Given the description of an element on the screen output the (x, y) to click on. 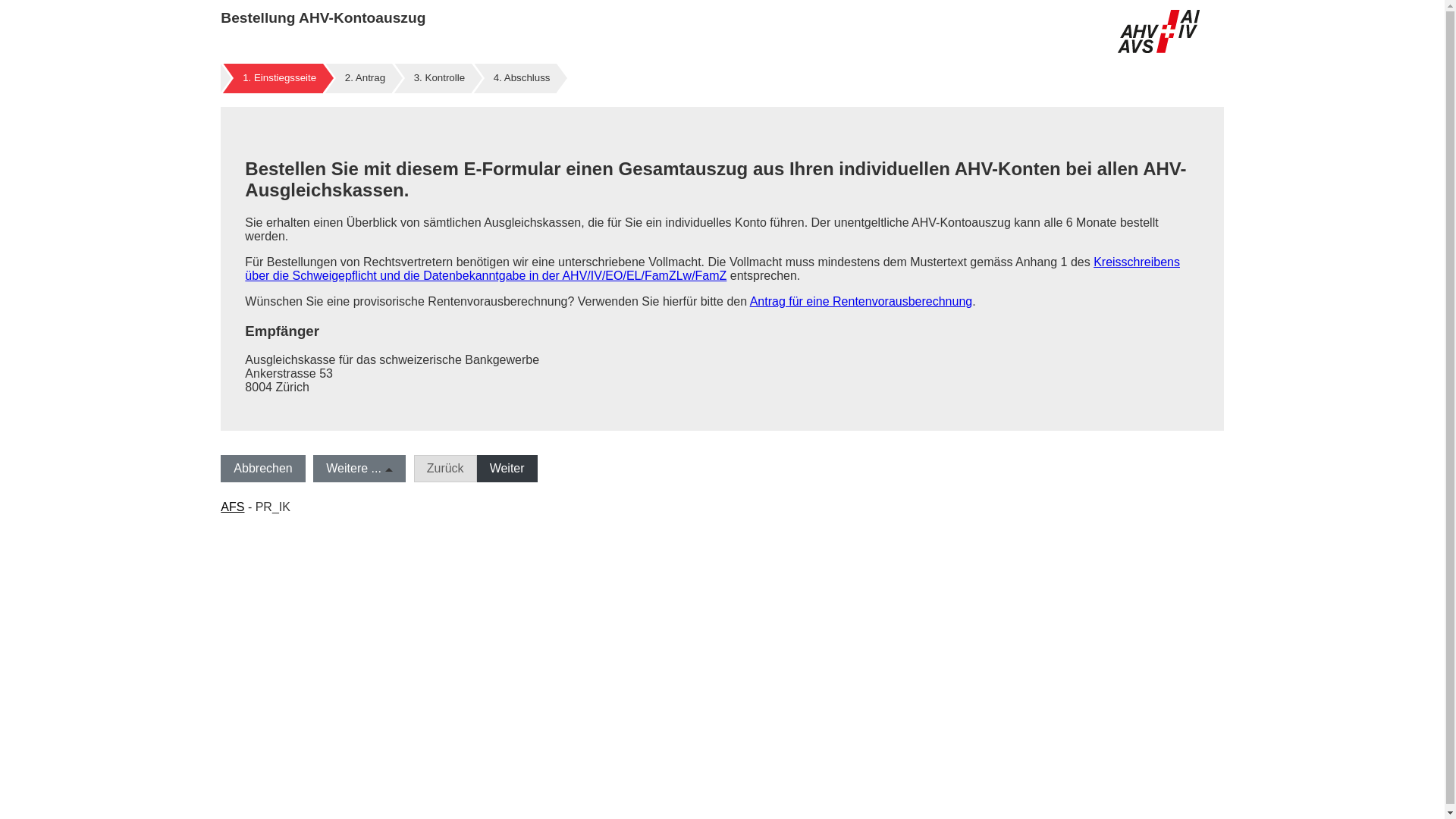
Weitere ... Element type: text (359, 468)
AFS Element type: text (232, 506)
Abbrechen Element type: text (262, 468)
Weiter Element type: text (506, 468)
Abschluss Element type: text (521, 76)
Titel Element type: hover (1158, 31)
Antrag Element type: text (365, 76)
Kontrolle Element type: text (439, 76)
Einstiegsseite Element type: text (279, 76)
